Given the description of an element on the screen output the (x, y) to click on. 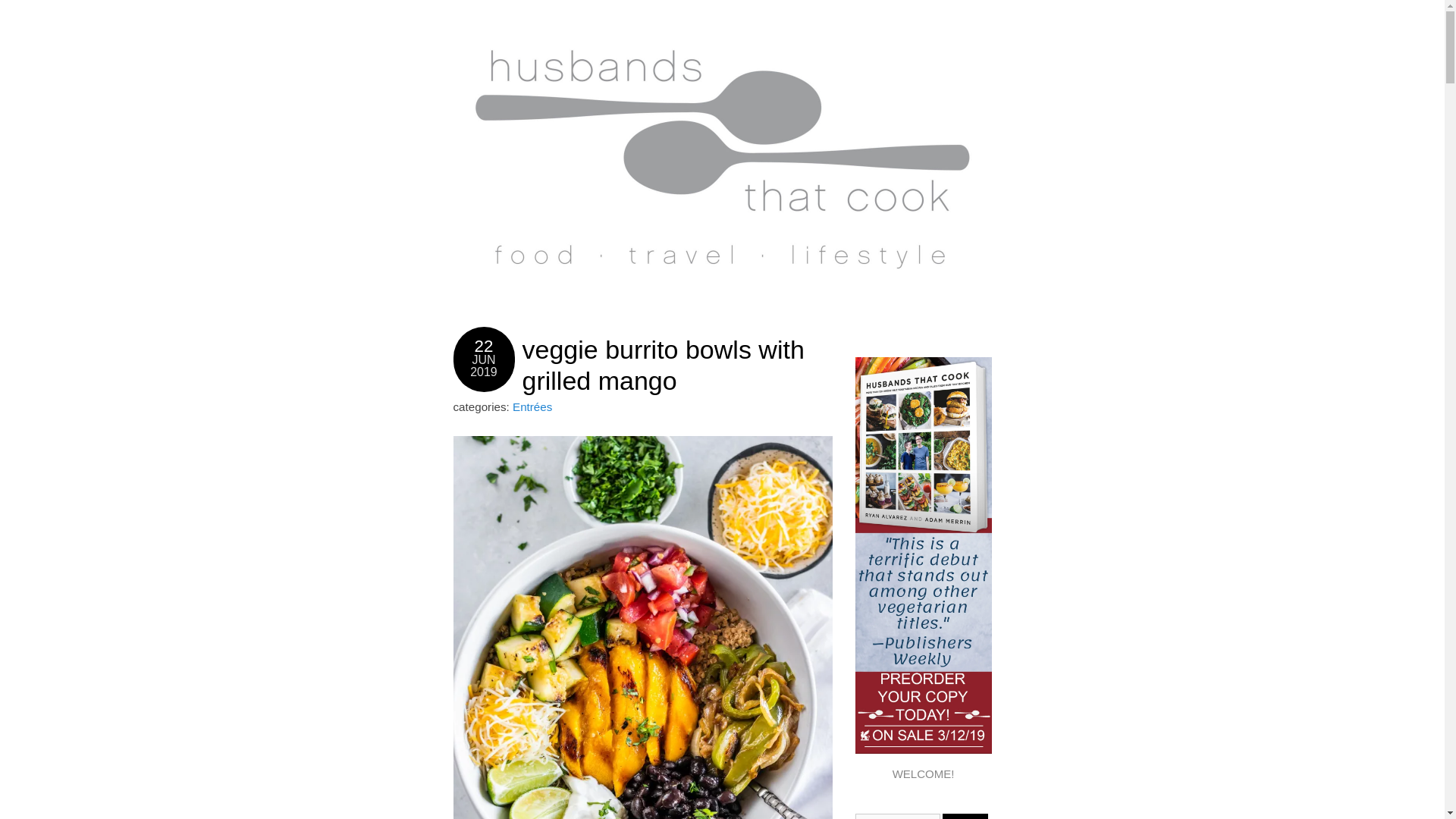
Search (965, 816)
veggie burrito bowls with grilled mango (662, 364)
